Given the description of an element on the screen output the (x, y) to click on. 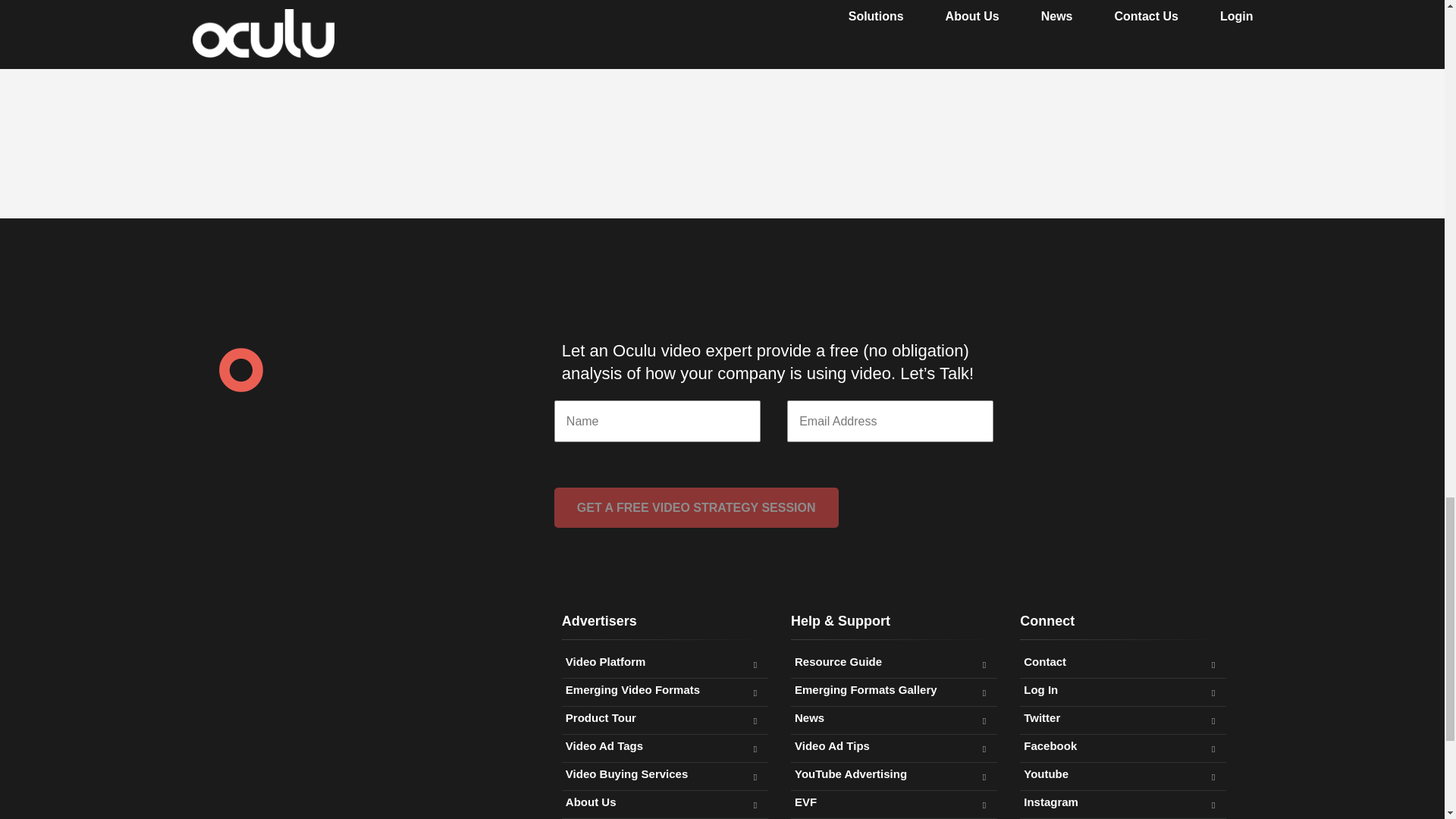
About Us (665, 802)
Log In (1123, 690)
Resource Guide (893, 661)
Video Platform (665, 661)
Video Buying Services (665, 773)
Facebook (1123, 745)
GET A FREE VIDEO STRATEGY SESSION (696, 507)
EVF (893, 802)
Emerging Video Formats (665, 690)
Video Ad Tags (665, 745)
